Given the description of an element on the screen output the (x, y) to click on. 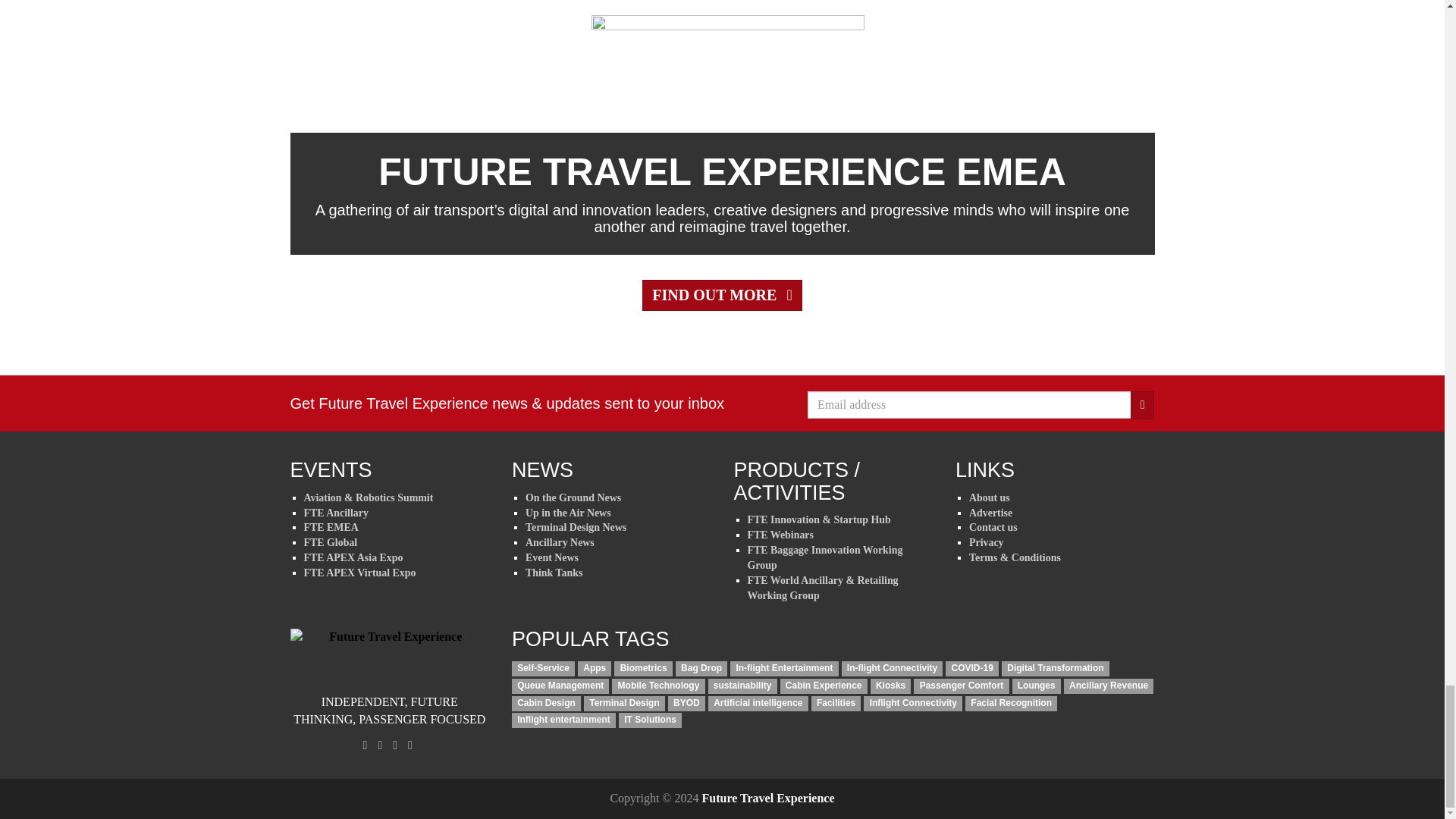
Apps (594, 668)
In-flight Entertainment (784, 668)
Mobile Technology (657, 685)
Bag Drop (700, 668)
Queue Management (560, 685)
COVID-19 (971, 668)
Self-Service (543, 668)
Biometrics (642, 668)
In-flight Connectivity (892, 668)
Digital Transformation (1055, 668)
